Given the description of an element on the screen output the (x, y) to click on. 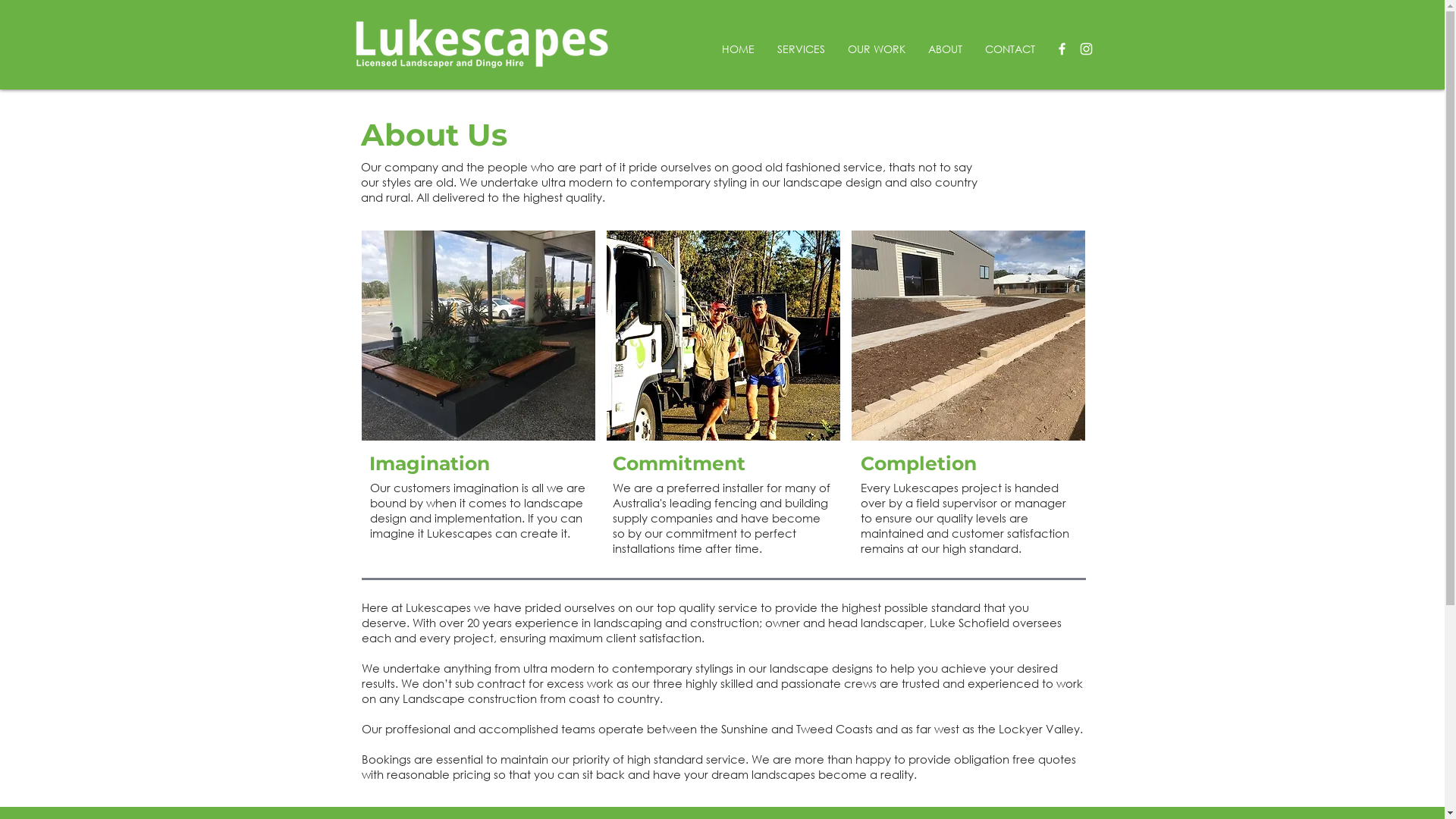
OUR WORK Element type: text (875, 49)
CONTACT Element type: text (1009, 49)
HOME Element type: text (737, 49)
SERVICES Element type: text (800, 49)
ABOUT Element type: text (944, 49)
